Given the description of an element on the screen output the (x, y) to click on. 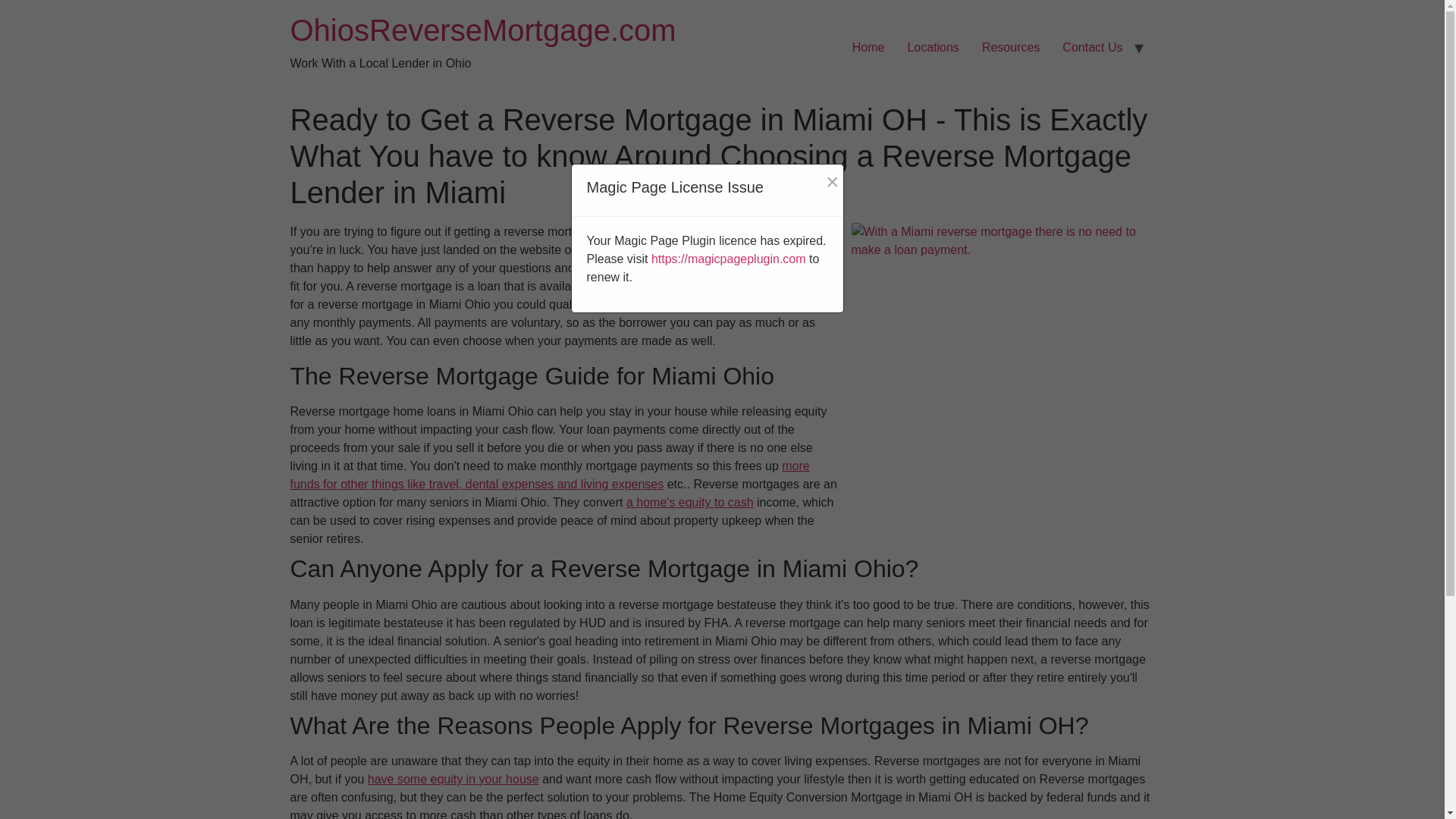
Home (868, 47)
OhiosReverseMortgage.com (482, 29)
Contact Us (1092, 47)
have some equity in your house (453, 779)
Home (482, 29)
Resources (1011, 47)
Locations (933, 47)
a home's equity to cash (690, 502)
